Given the description of an element on the screen output the (x, y) to click on. 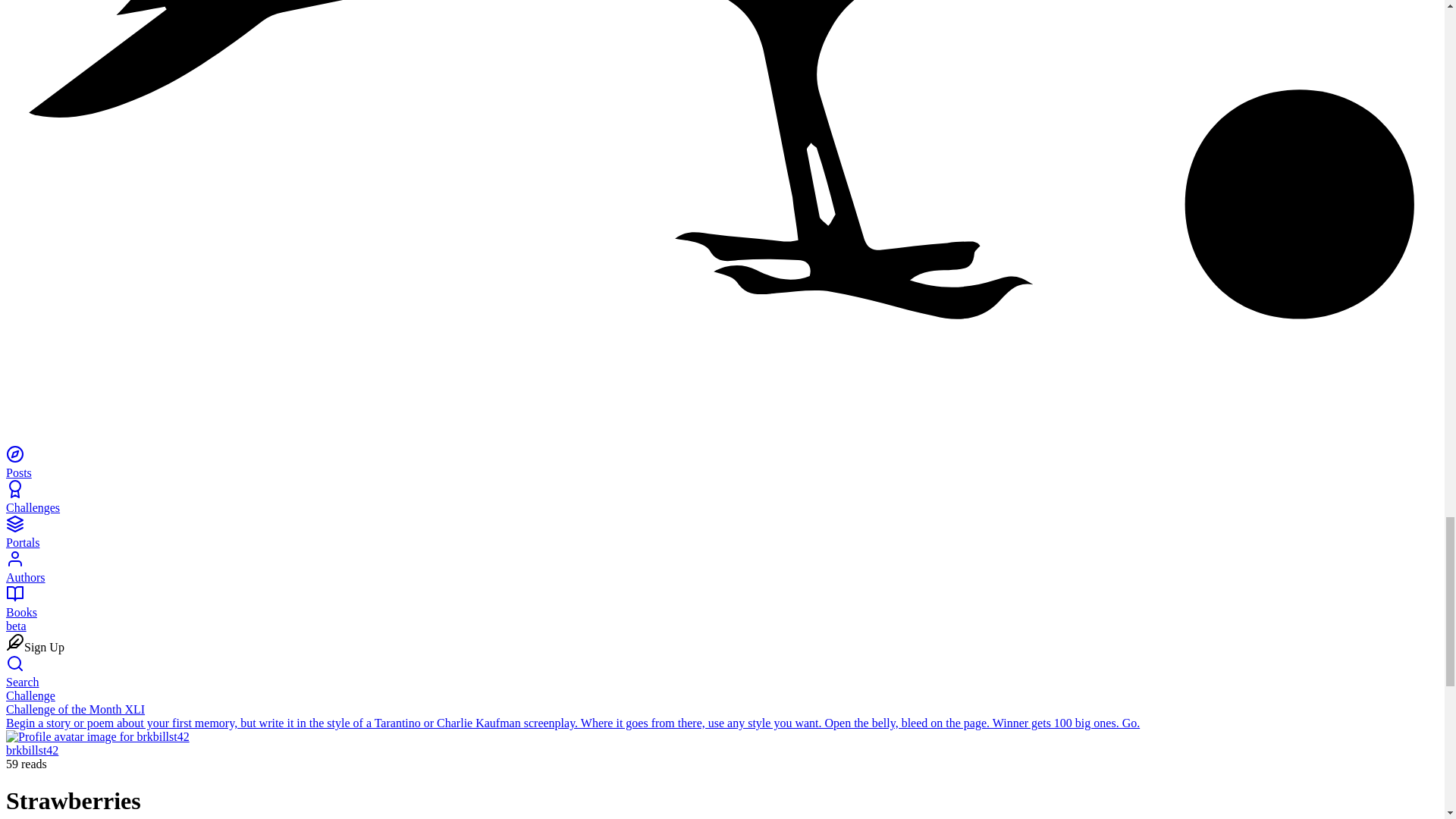
Challenge (30, 695)
brkbillst42 (31, 749)
